Given the description of an element on the screen output the (x, y) to click on. 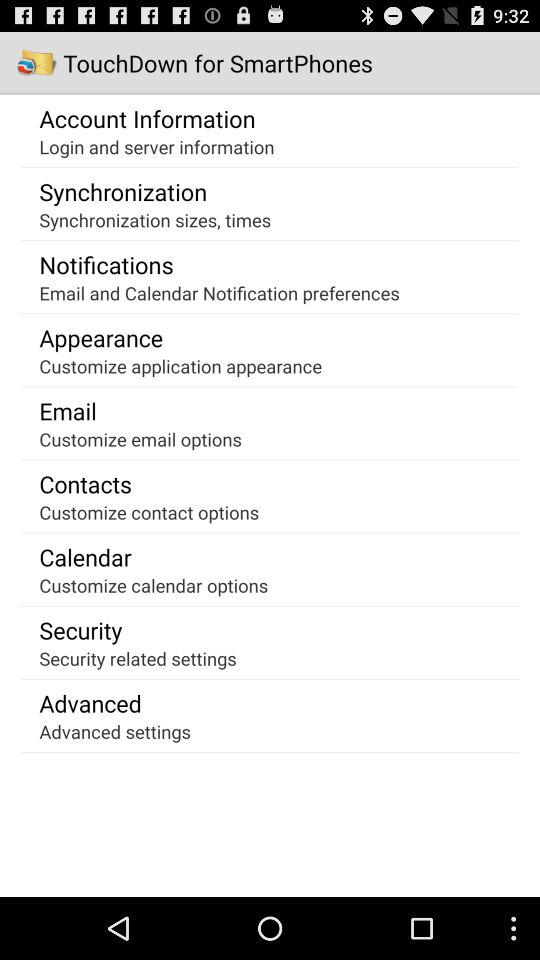
scroll until the account information item (147, 118)
